Given the description of an element on the screen output the (x, y) to click on. 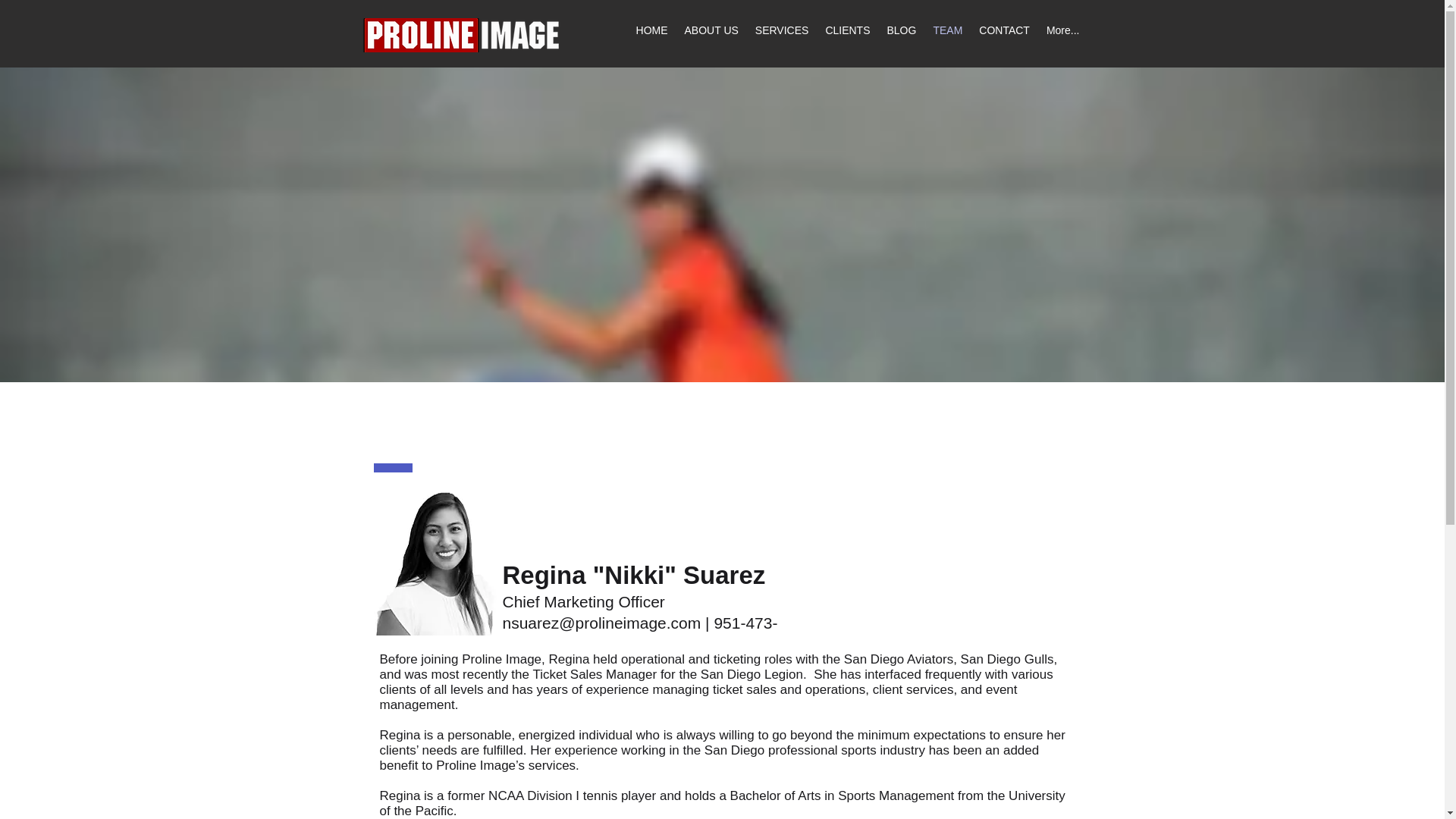
BLOG (900, 37)
ABOUT US (711, 37)
HOME (652, 37)
TEAM (947, 37)
CONTACT (1004, 37)
CLIENTS (846, 37)
SERVICES (781, 37)
